Given the description of an element on the screen output the (x, y) to click on. 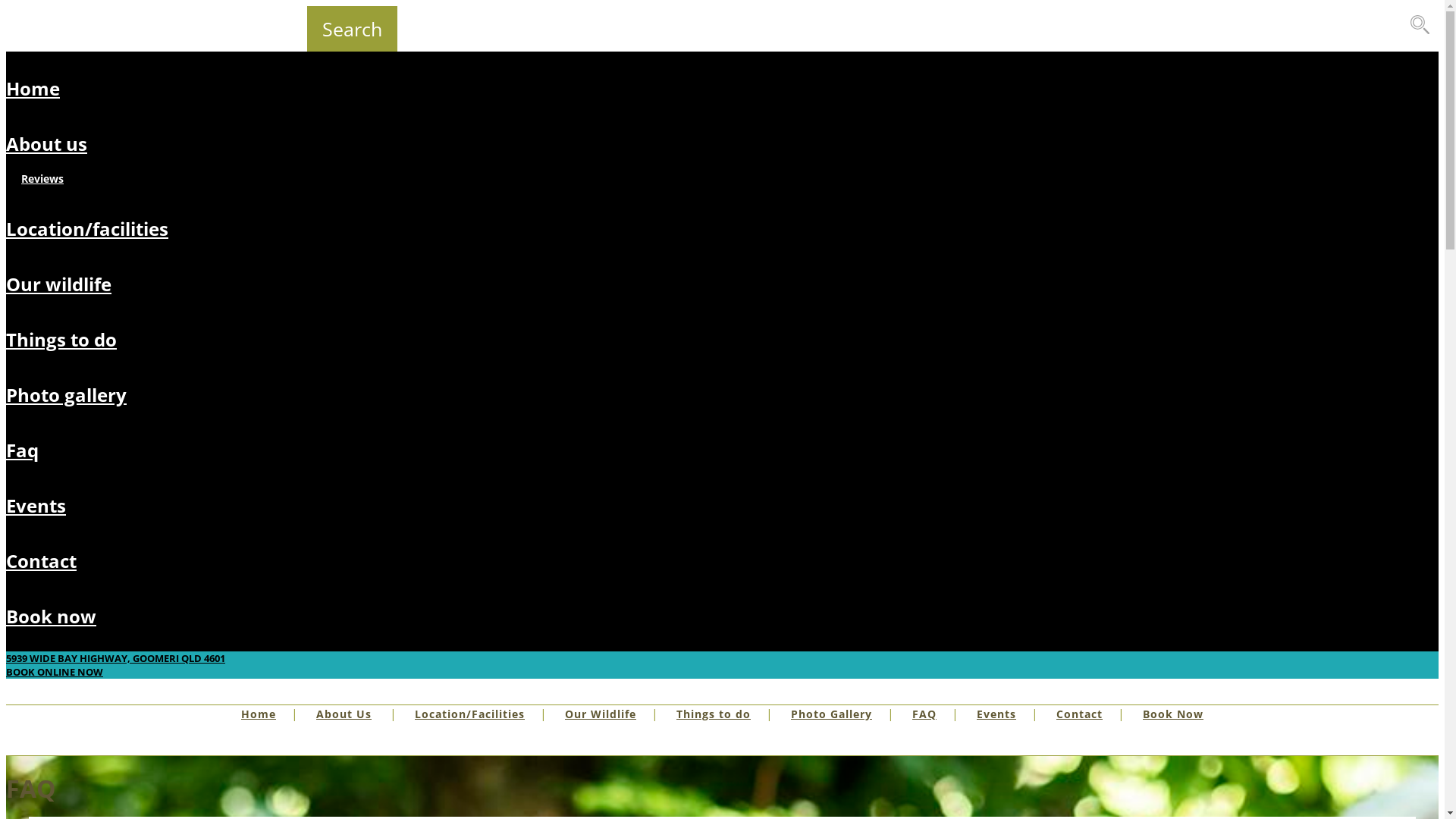
Home Element type: text (258, 713)
5939 WIDE BAY HIGHWAY, GOOMERI QLD 4601 Element type: text (115, 658)
reviews Element type: text (42, 178)
book now Element type: text (51, 616)
Photo Gallery Element type: text (831, 713)
location/facilities Element type: text (87, 228)
Location/Facilities Element type: text (469, 713)
BOOK ONLINE NOW Element type: text (54, 671)
Contact Element type: text (1079, 713)
Our Wildlife Element type: text (600, 713)
about us Element type: text (46, 143)
photo gallery Element type: text (66, 394)
faq Element type: text (22, 449)
FAQ Element type: text (924, 713)
About Us Element type: text (343, 713)
contact Element type: text (41, 560)
Events Element type: text (996, 713)
events Element type: text (35, 505)
things to do Element type: text (61, 339)
Search Element type: text (352, 28)
our wildlife Element type: text (58, 283)
home Element type: text (32, 88)
Things to do Element type: text (713, 713)
Book Now Element type: text (1172, 713)
